Given the description of an element on the screen output the (x, y) to click on. 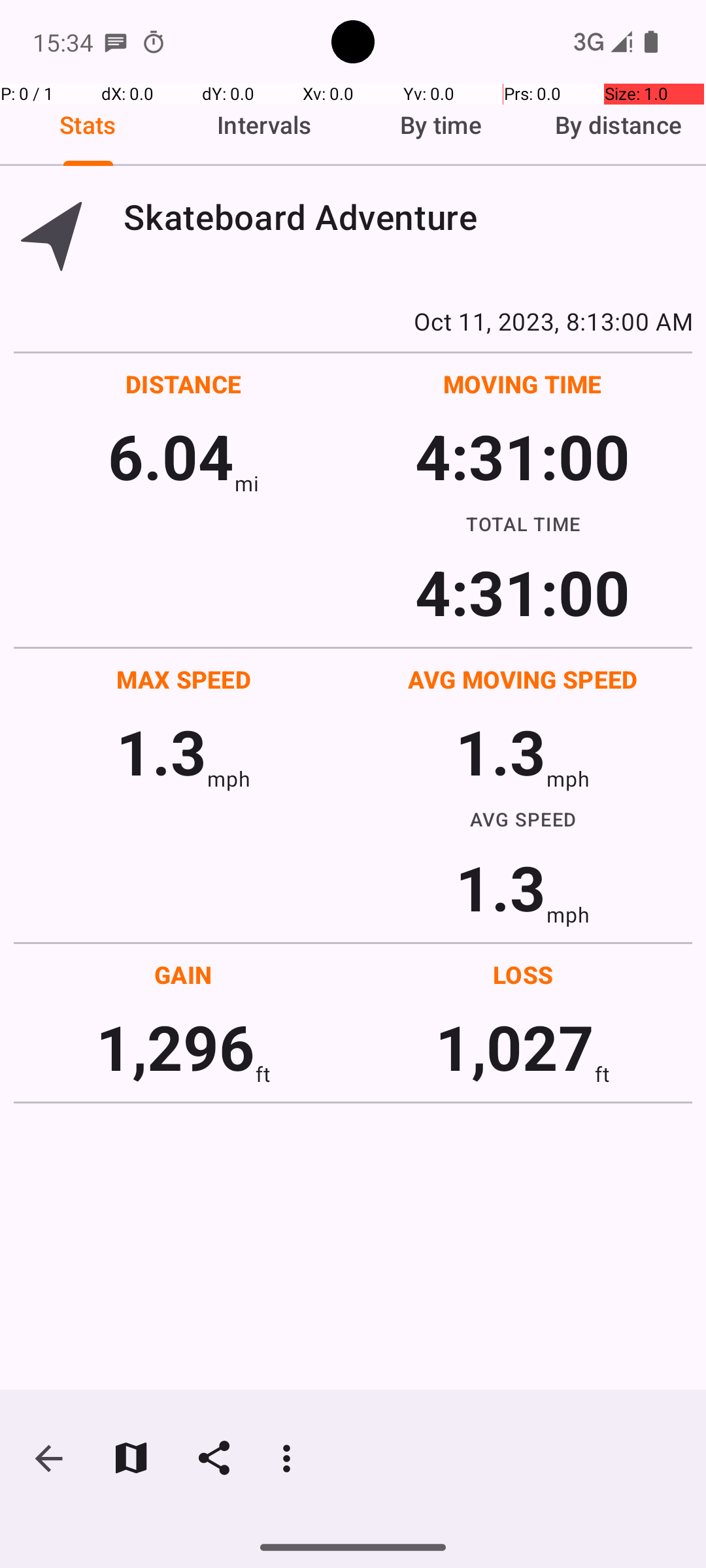
Skateboard Adventure Element type: android.widget.TextView (407, 216)
Oct 11, 2023, 8:13:00 AM Element type: android.widget.TextView (352, 320)
6.04 Element type: android.widget.TextView (170, 455)
4:31:00 Element type: android.widget.TextView (522, 455)
1.3 Element type: android.widget.TextView (161, 750)
1,296 Element type: android.widget.TextView (175, 1045)
1,027 Element type: android.widget.TextView (514, 1045)
